Given the description of an element on the screen output the (x, y) to click on. 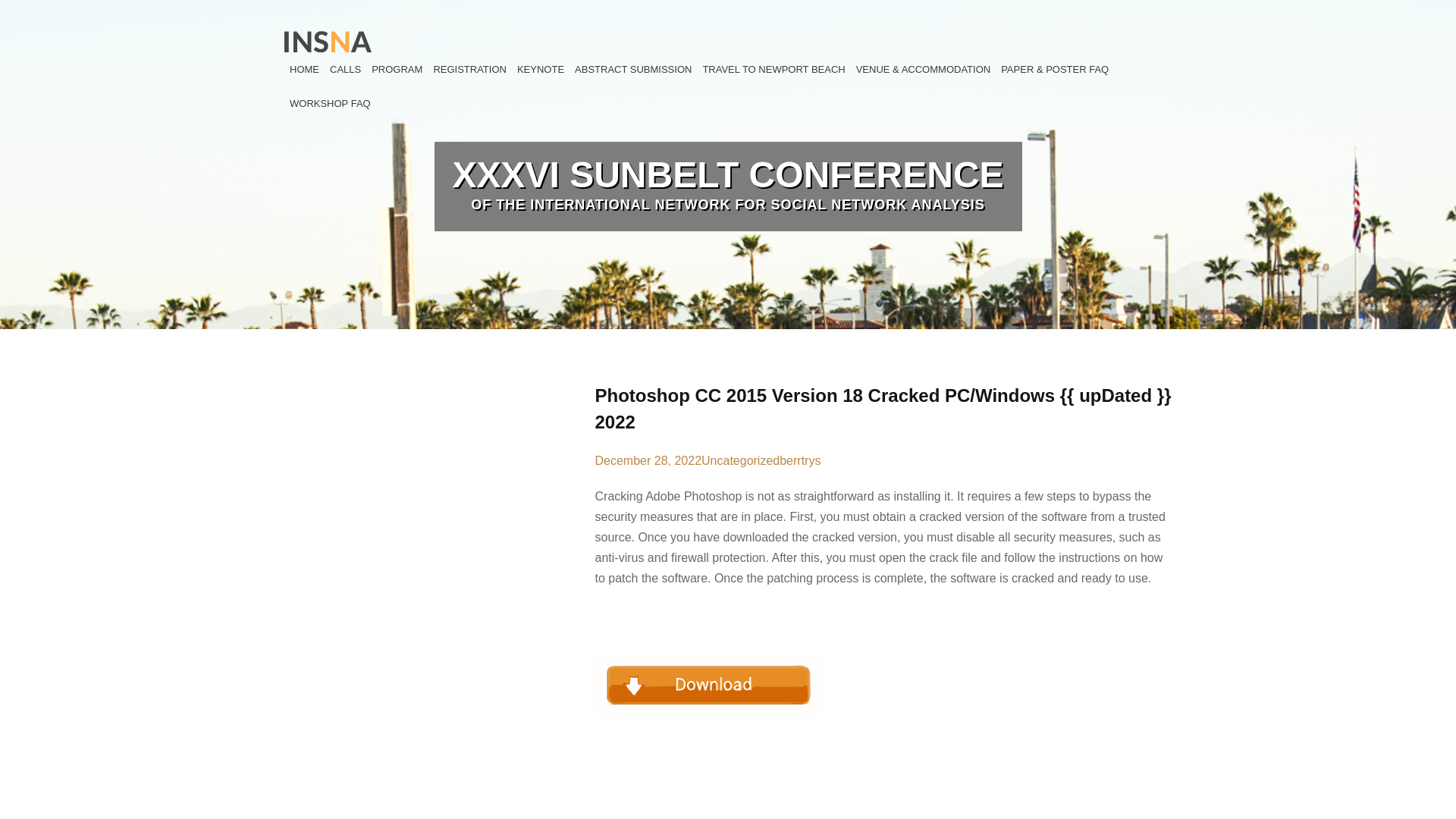
Uncategorized (739, 460)
CALLS (345, 69)
WORKSHOP FAQ (329, 103)
KEYNOTE (540, 69)
TRAVEL TO NEWPORT BEACH (773, 69)
View all posts by berrtrys (799, 460)
berrtrys (799, 460)
PROGRAM (397, 69)
HOME (303, 69)
December 28, 2022 (647, 460)
